Given the description of an element on the screen output the (x, y) to click on. 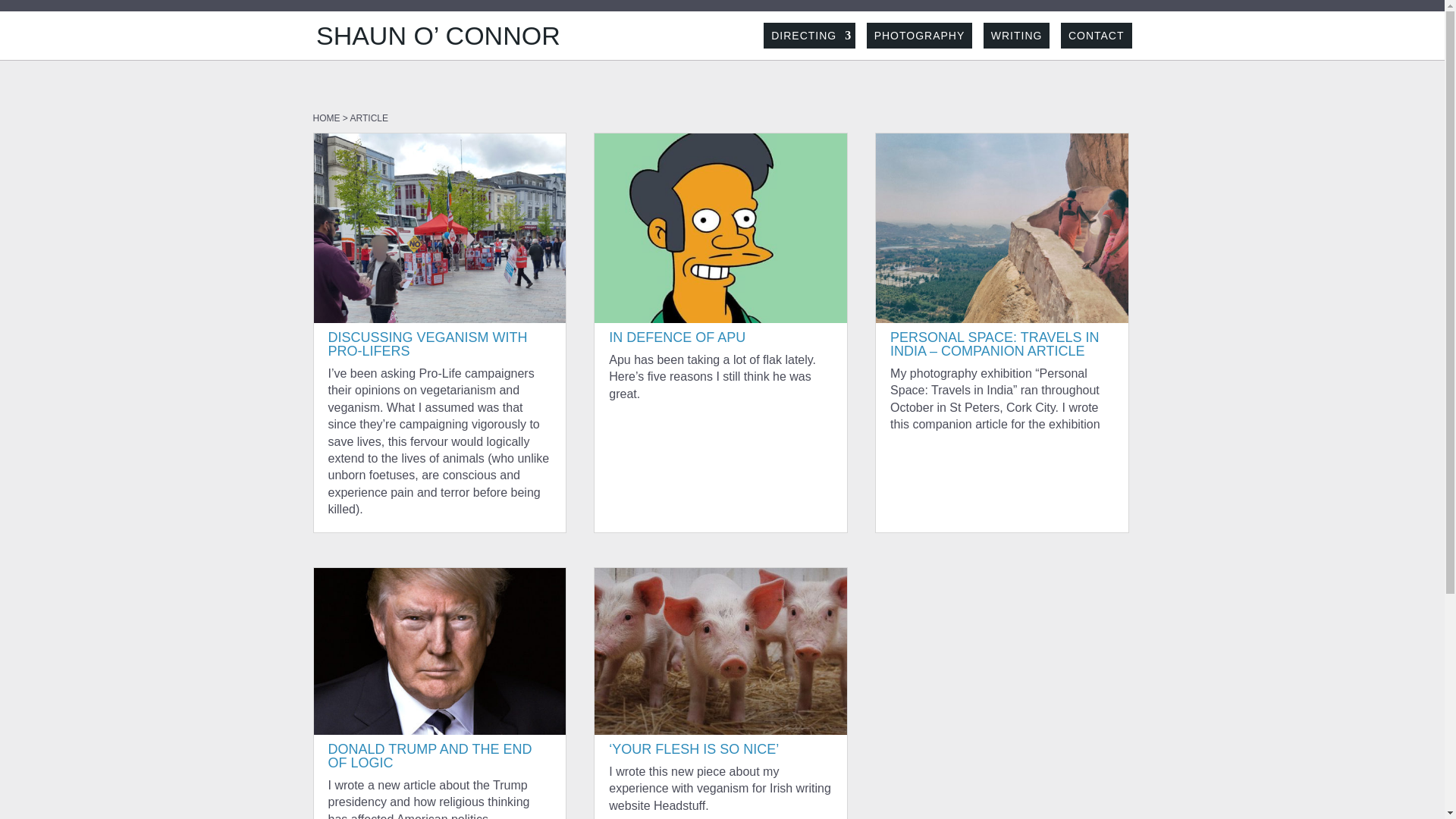
PHOTOGRAPHY (919, 35)
IN DEFENCE OF APU (676, 337)
DONALD TRUMP AND THE END OF LOGIC (429, 756)
WRITING (1016, 35)
CONTACT (1096, 35)
HOME (326, 118)
DISCUSSING VEGANISM WITH PRO-LIFERS (427, 344)
DIRECTING (809, 35)
